Given the description of an element on the screen output the (x, y) to click on. 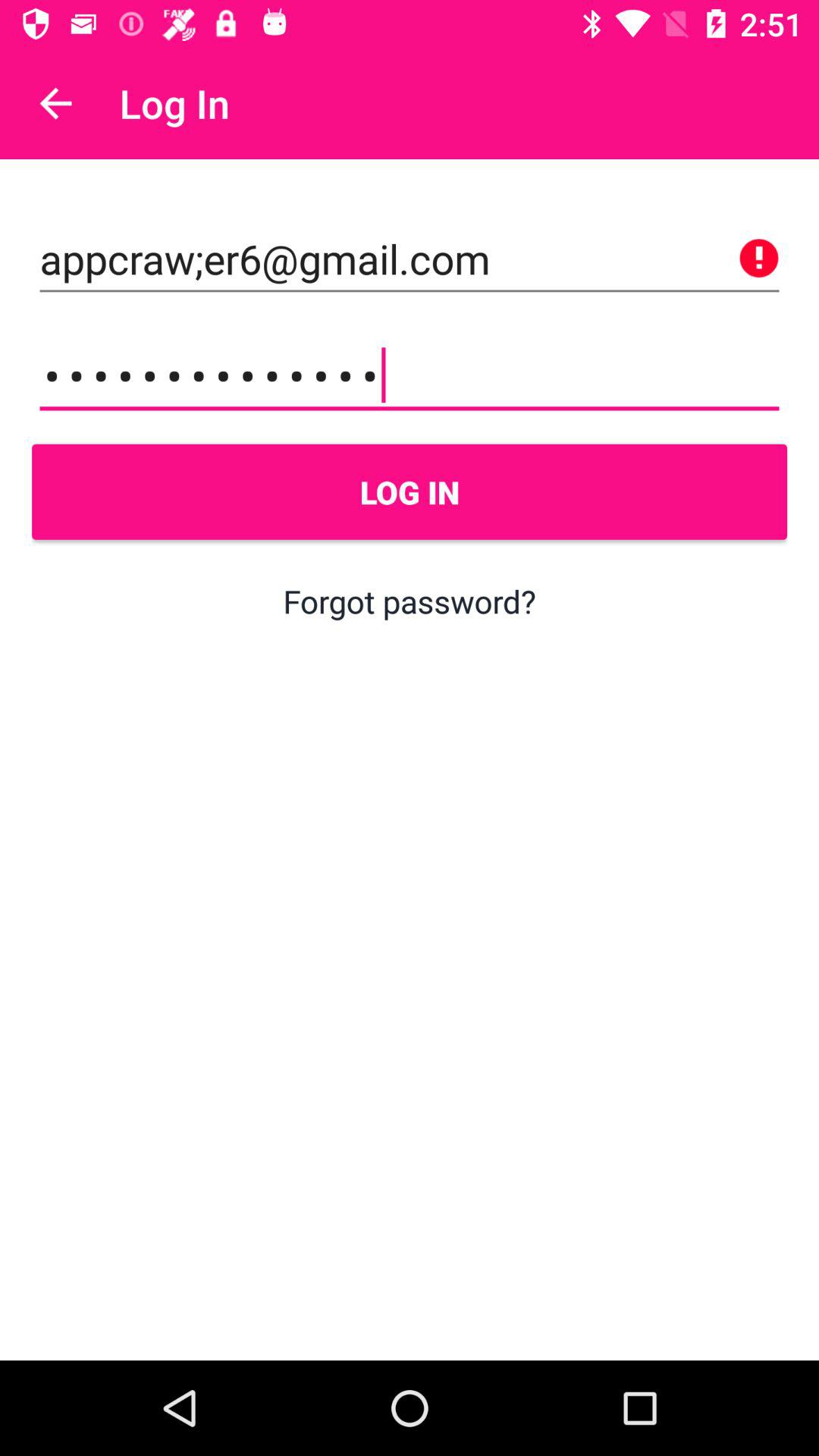
select the forgot password? item (409, 600)
